Given the description of an element on the screen output the (x, y) to click on. 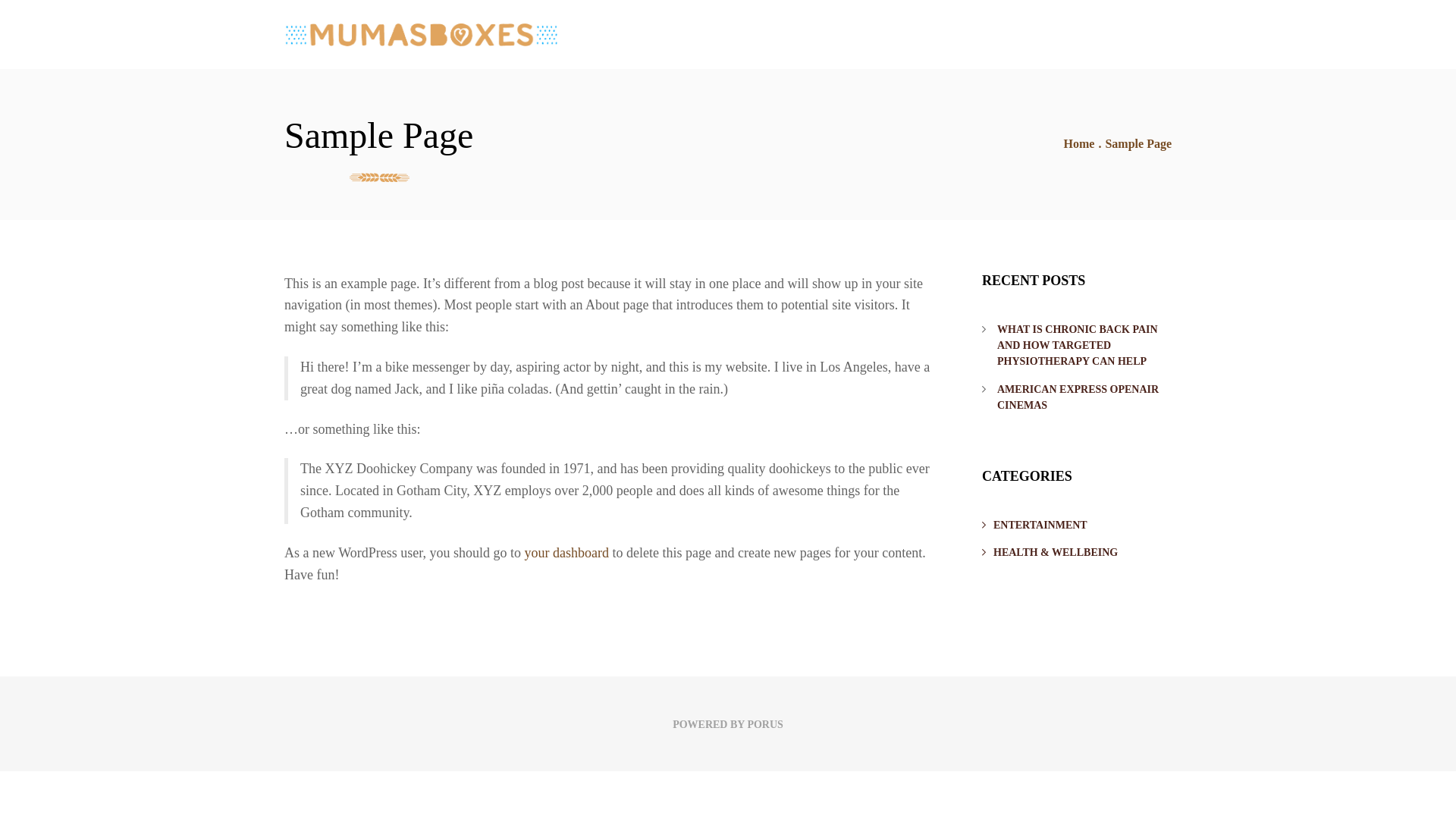
AMERICAN EXPRESS OPENAIR CINEMAS Element type: text (1077, 397)
Home Element type: text (1079, 143)
ENTERTAINMENT Element type: text (1076, 525)
HEALTH & WELLBEING Element type: text (1076, 552)
your dashboard Element type: text (566, 552)
